Given the description of an element on the screen output the (x, y) to click on. 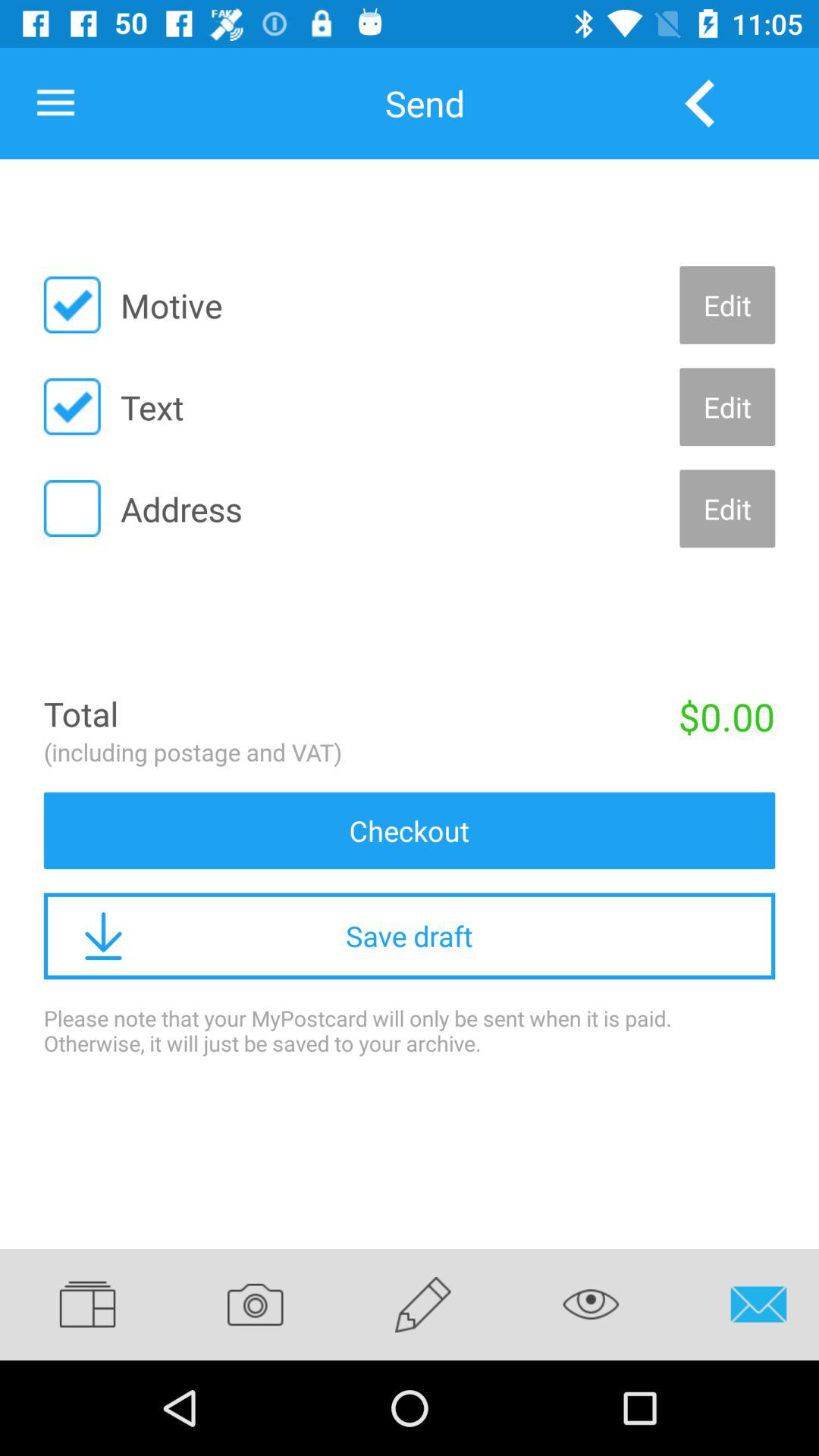
select the item to the left of send (55, 103)
